Given the description of an element on the screen output the (x, y) to click on. 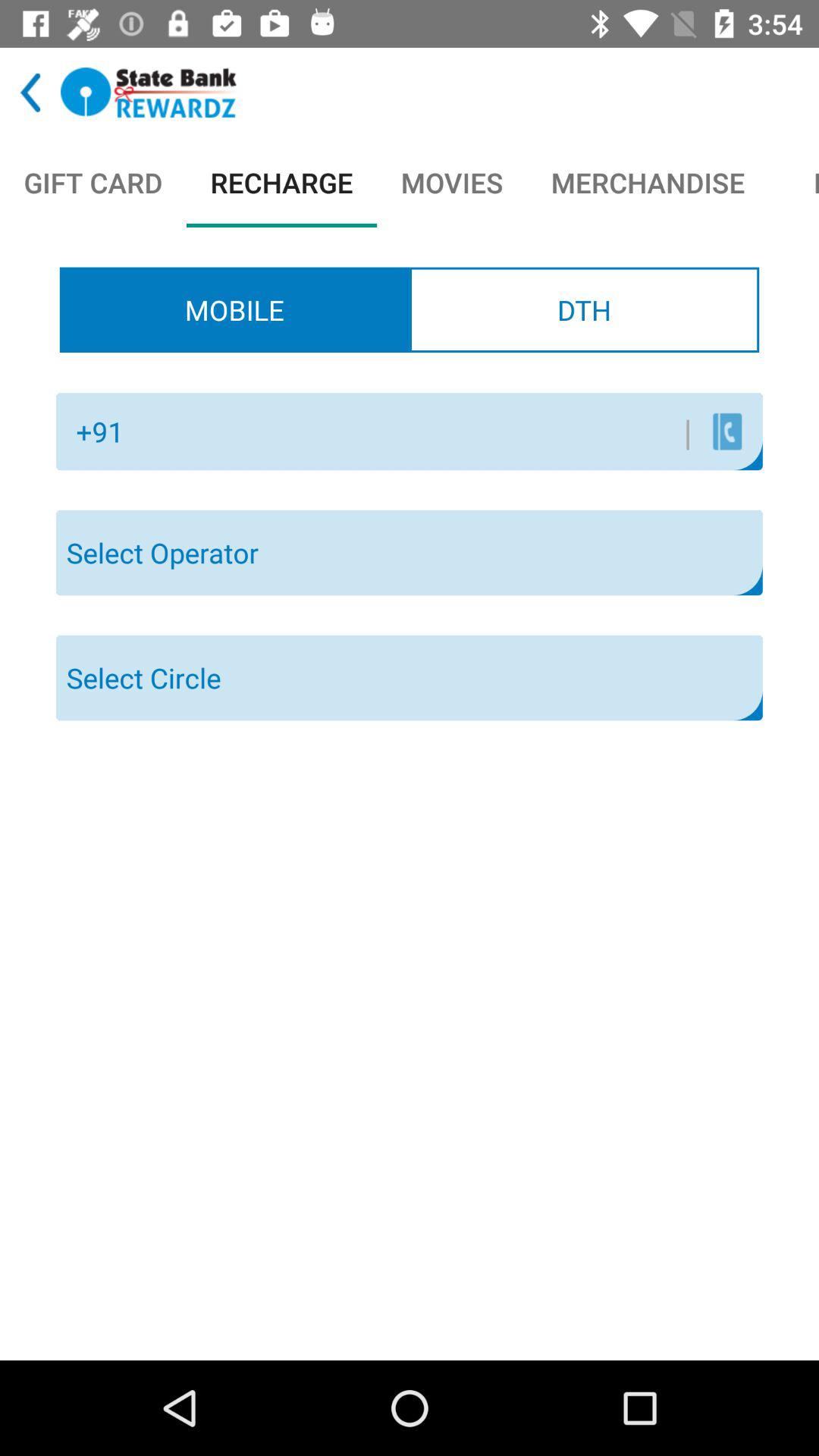
click the app below the gift card app (234, 309)
